Given the description of an element on the screen output the (x, y) to click on. 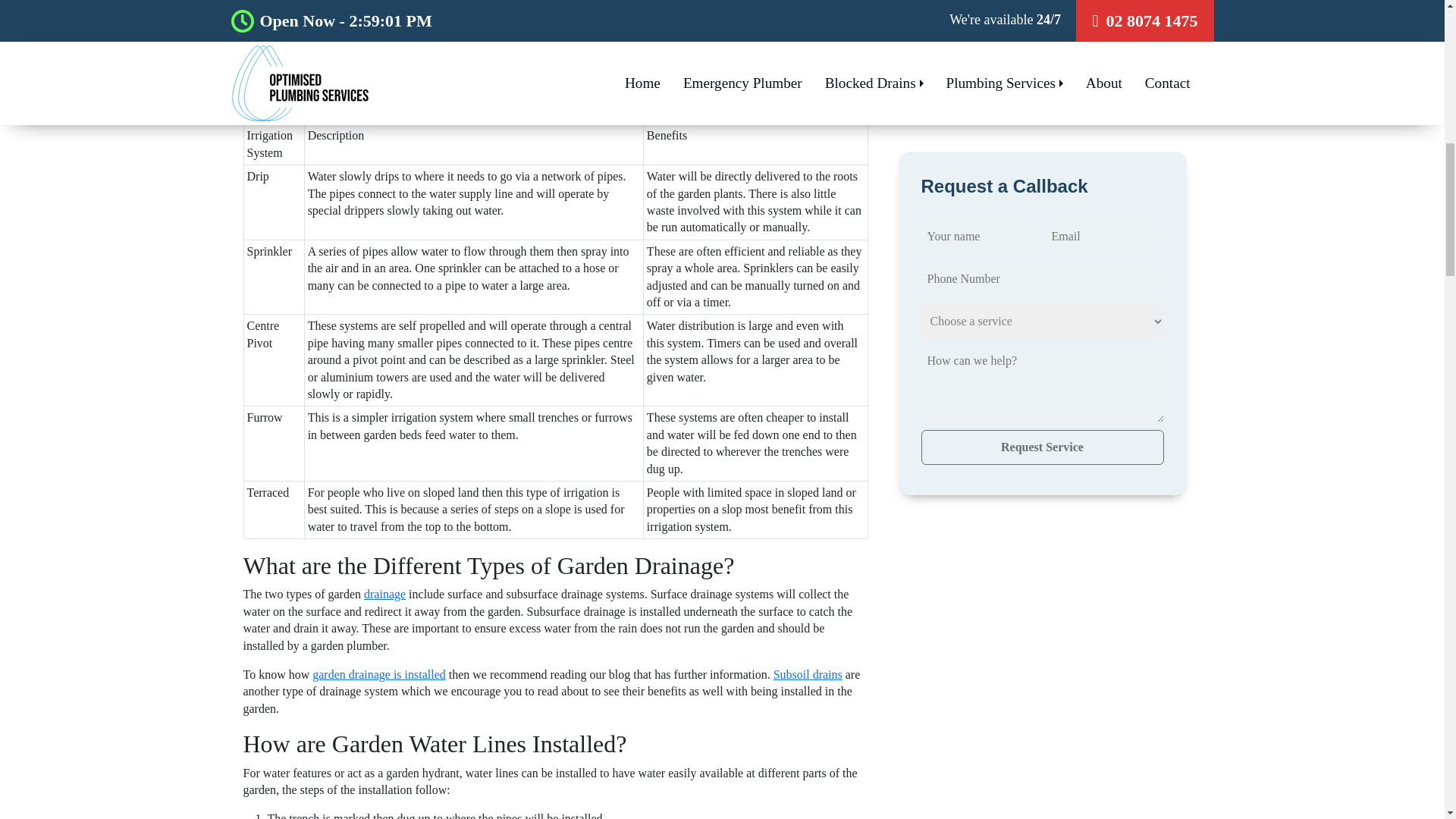
drainage (385, 594)
Request Service (1041, 35)
garden drainage is installed (379, 674)
Subsoil drains (808, 674)
